Given the description of an element on the screen output the (x, y) to click on. 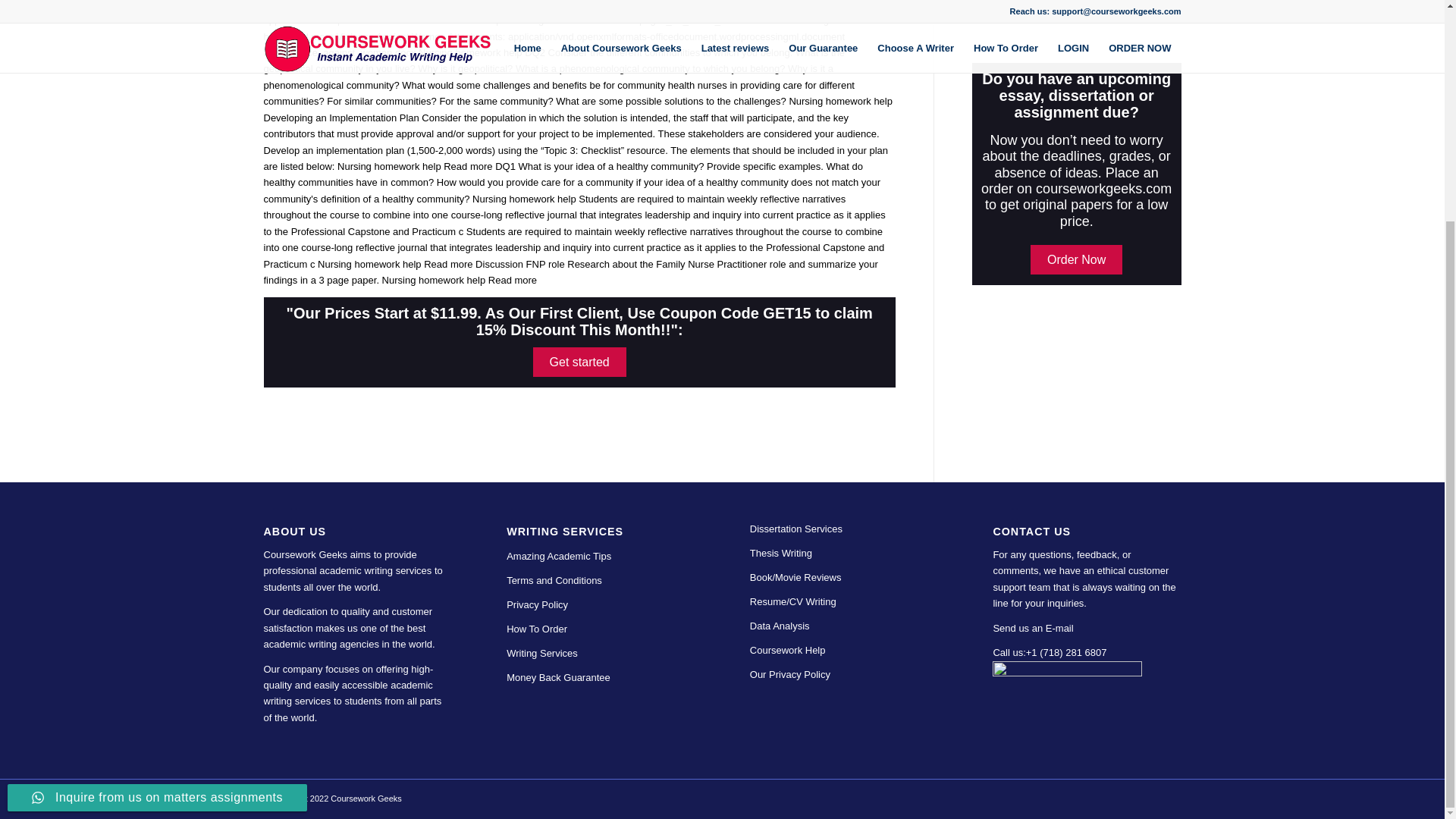
Amazing Academic Tips (558, 555)
Order Now (1076, 259)
Get started (579, 361)
